Given the description of an element on the screen output the (x, y) to click on. 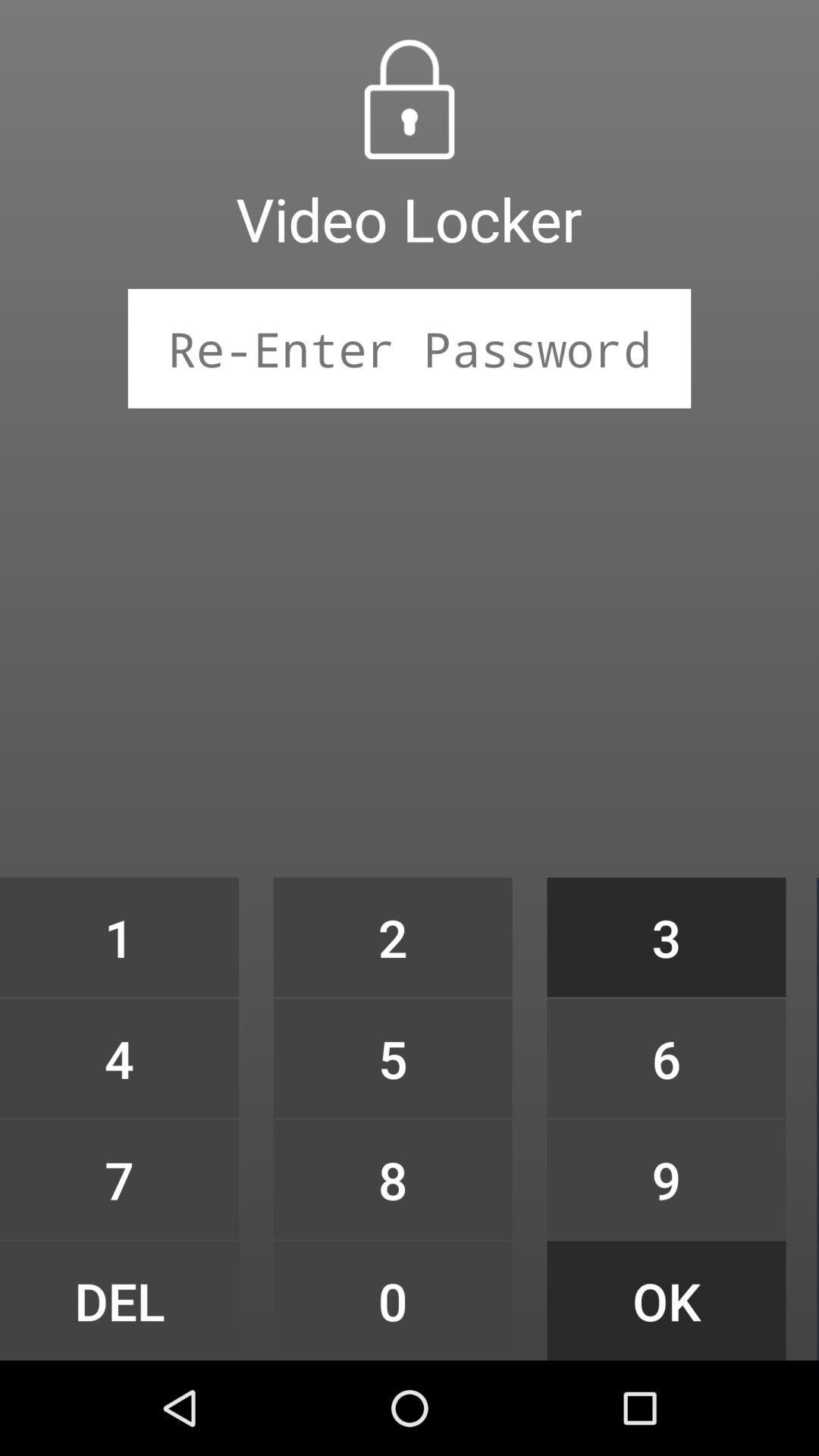
press the 1 item (119, 937)
